Given the description of an element on the screen output the (x, y) to click on. 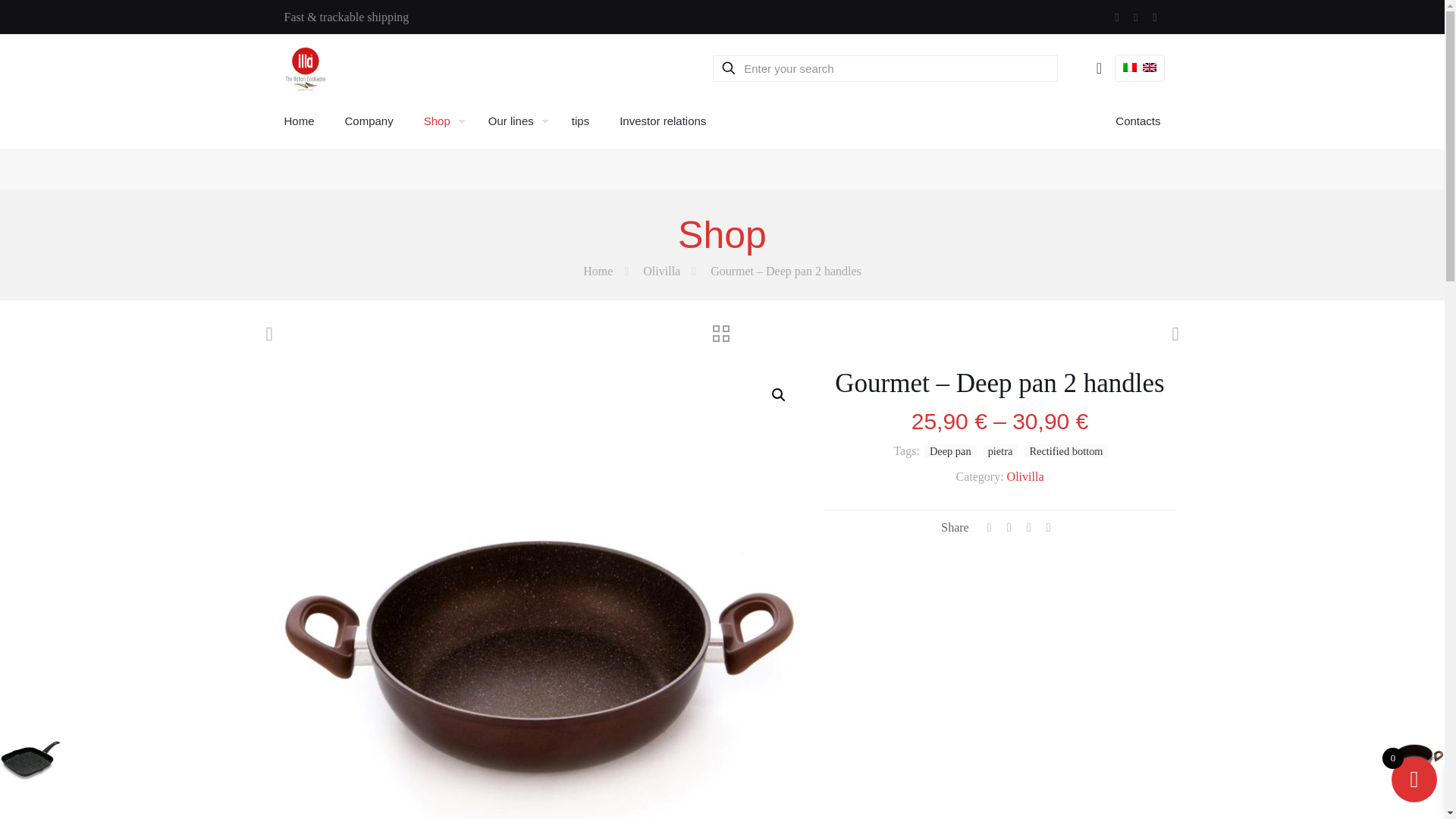
Home (298, 121)
Company (369, 121)
Shop (441, 121)
Facebook (1117, 17)
LinkedIn (1135, 17)
Instagram (1155, 17)
